Given the description of an element on the screen output the (x, y) to click on. 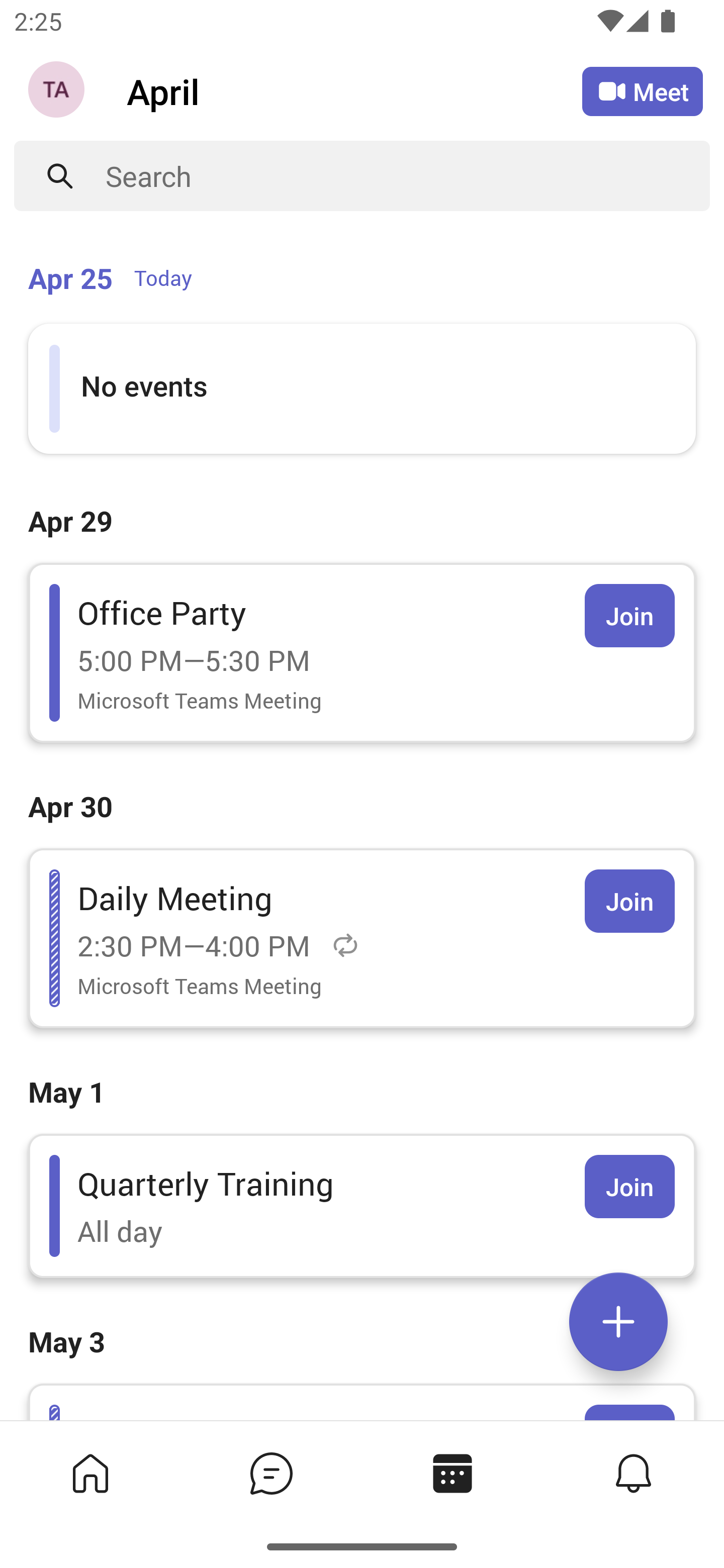
Navigation (58, 91)
Meet Meet now or join with an ID (642, 91)
April April Calendar Agenda View (354, 90)
Search (407, 176)
Join (629, 615)
Join (629, 900)
Join (629, 1186)
Expand meetings menu (618, 1321)
Home tab,1 of 4, not selected (90, 1472)
Chat tab,2 of 4, not selected (271, 1472)
Calendar tab, 3 of 4 (452, 1472)
Activity tab,4 of 4, not selected (633, 1472)
